Given the description of an element on the screen output the (x, y) to click on. 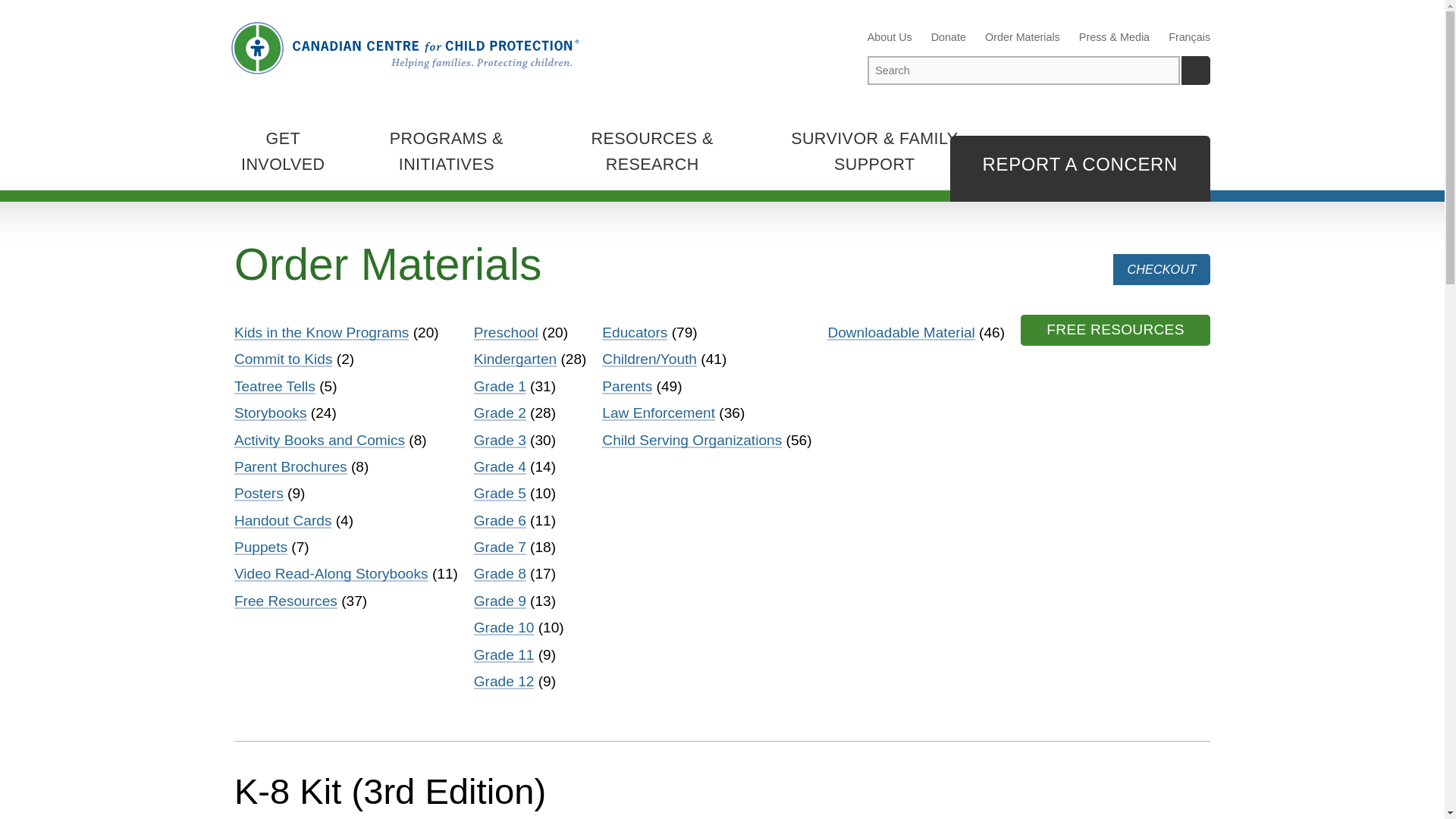
Activity Books and Comics (319, 439)
Kids in the Know Programs (321, 332)
Storybooks (270, 412)
Commit to Kids (283, 358)
Donate (948, 36)
Order Materials (1022, 36)
Teatree Tells (274, 385)
CHECKOUT (1161, 269)
About Us (889, 36)
SEARCH (1194, 70)
GET INVOLVED (283, 151)
REPORT A CONCERN (1080, 168)
